Given the description of an element on the screen output the (x, y) to click on. 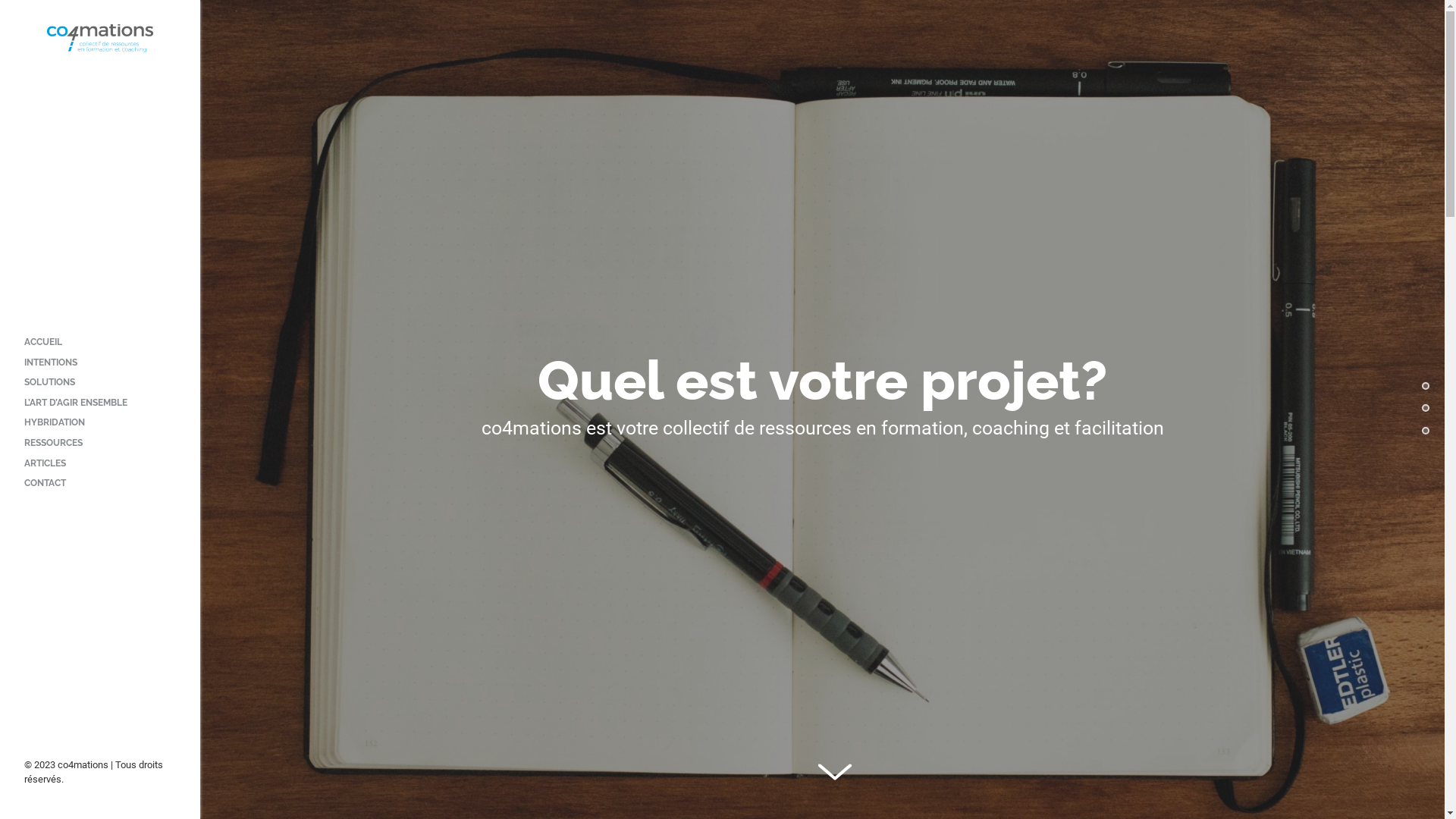
ACCUEIL Element type: text (43, 343)
HYBRIDATION Element type: text (54, 424)
CONTACT Element type: text (44, 484)
INTENTIONS Element type: text (50, 364)
RESSOURCES Element type: text (53, 444)
SOLUTIONS Element type: text (49, 384)
ARTICLES Element type: text (44, 465)
